Given the description of an element on the screen output the (x, y) to click on. 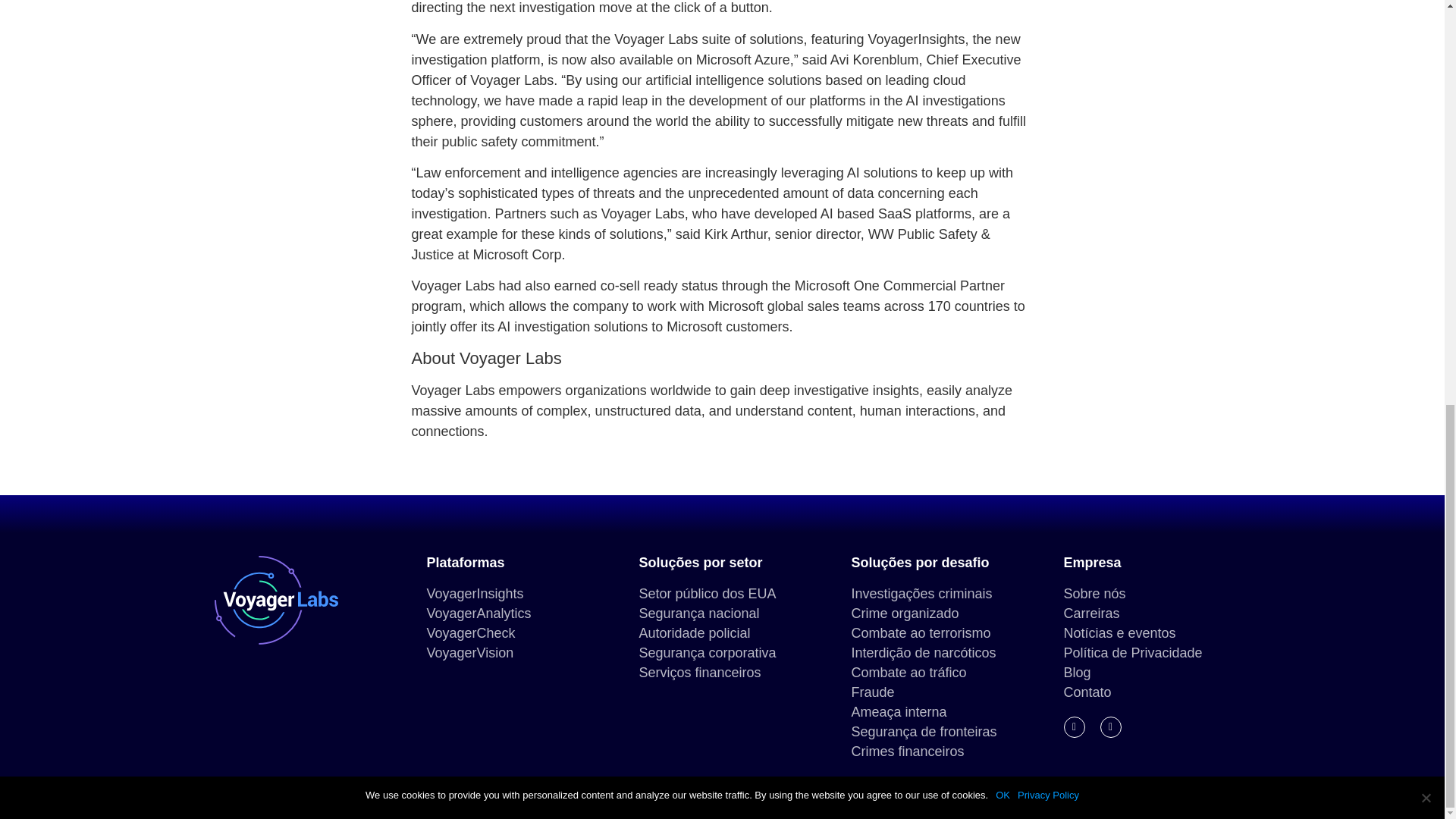
No (1425, 2)
